Given the description of an element on the screen output the (x, y) to click on. 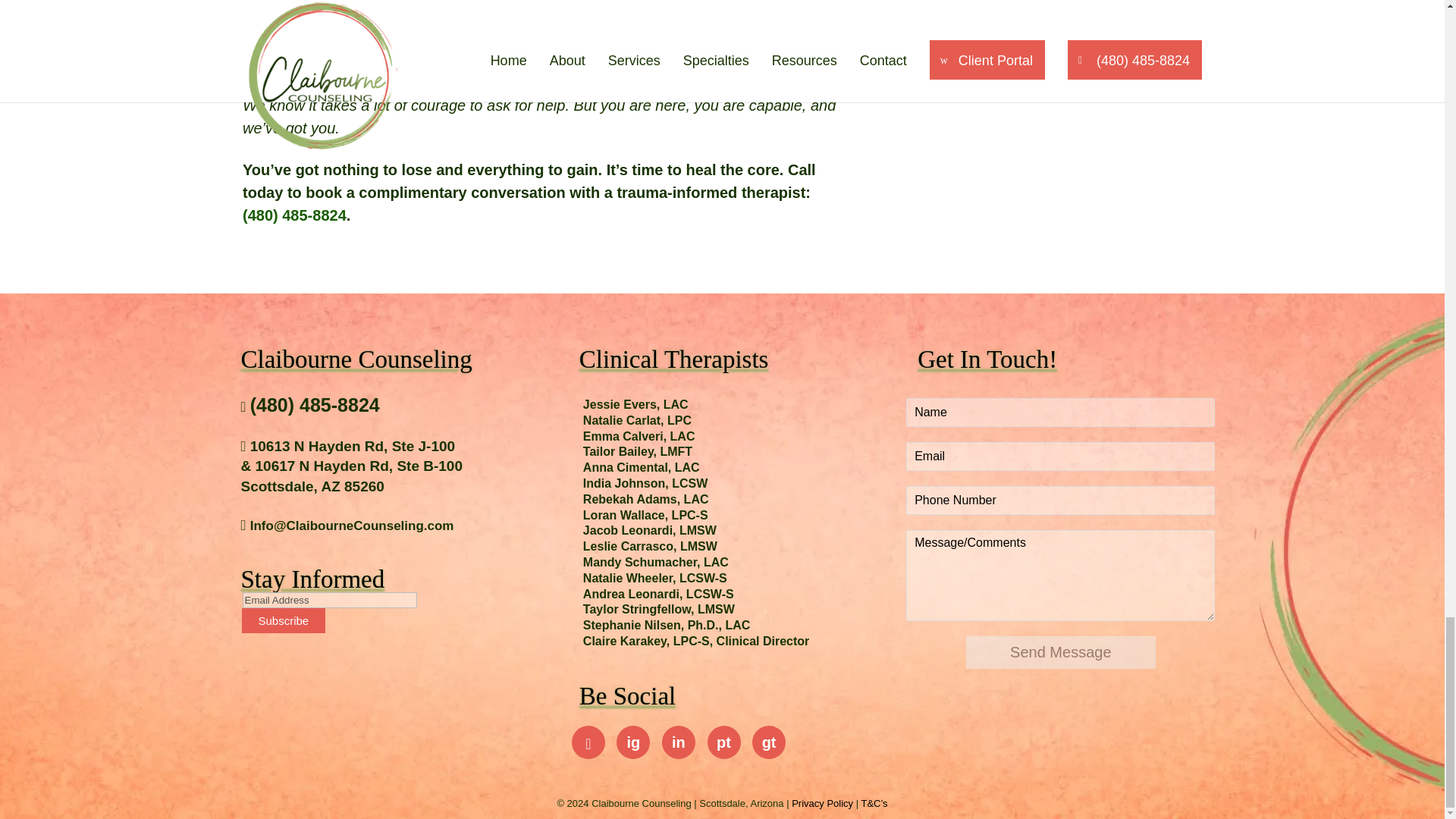
Email Address (329, 600)
Subscribe (282, 620)
